Given the description of an element on the screen output the (x, y) to click on. 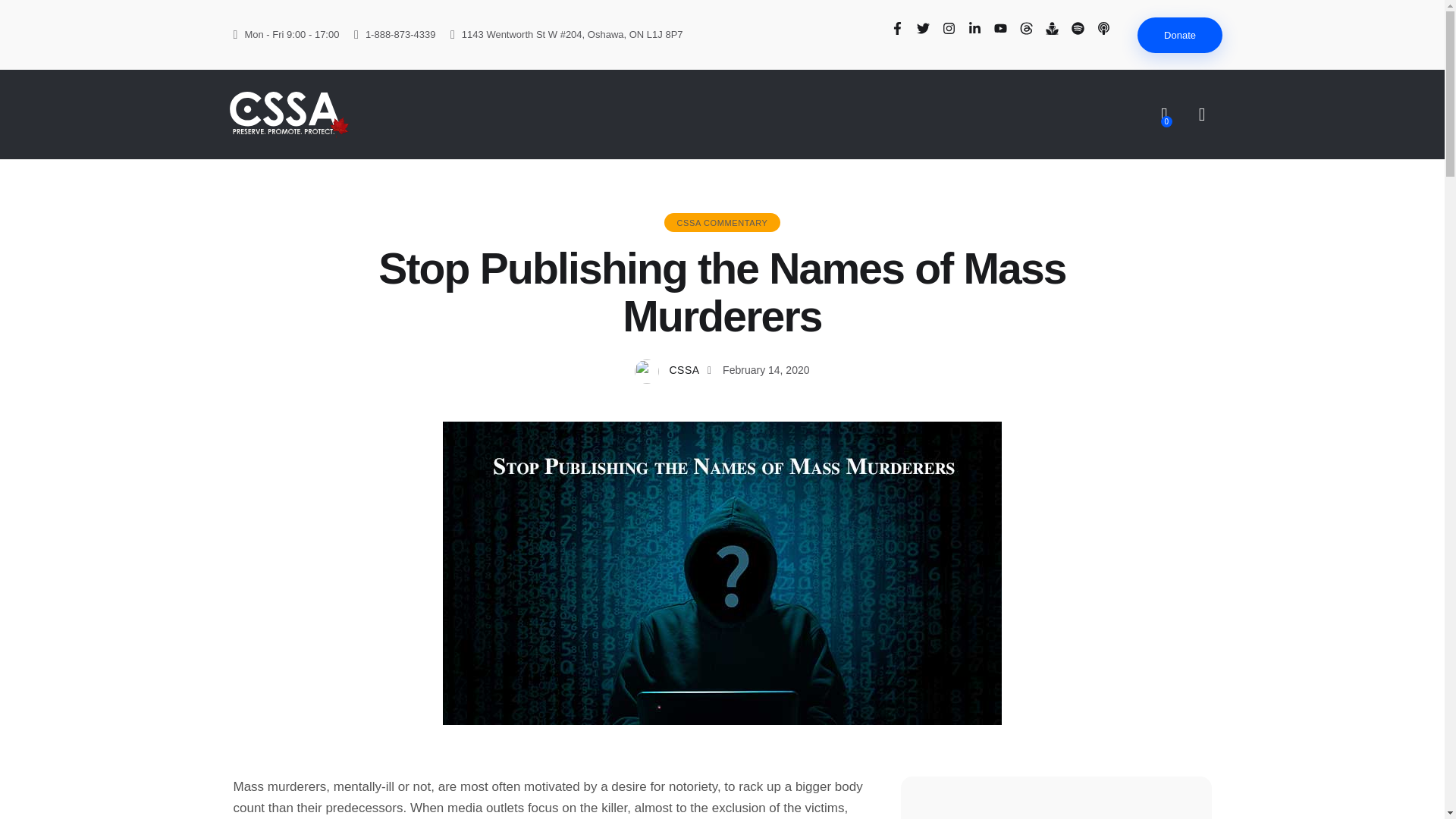
Donate (1180, 35)
1-888-873-4339 (394, 34)
